Given the description of an element on the screen output the (x, y) to click on. 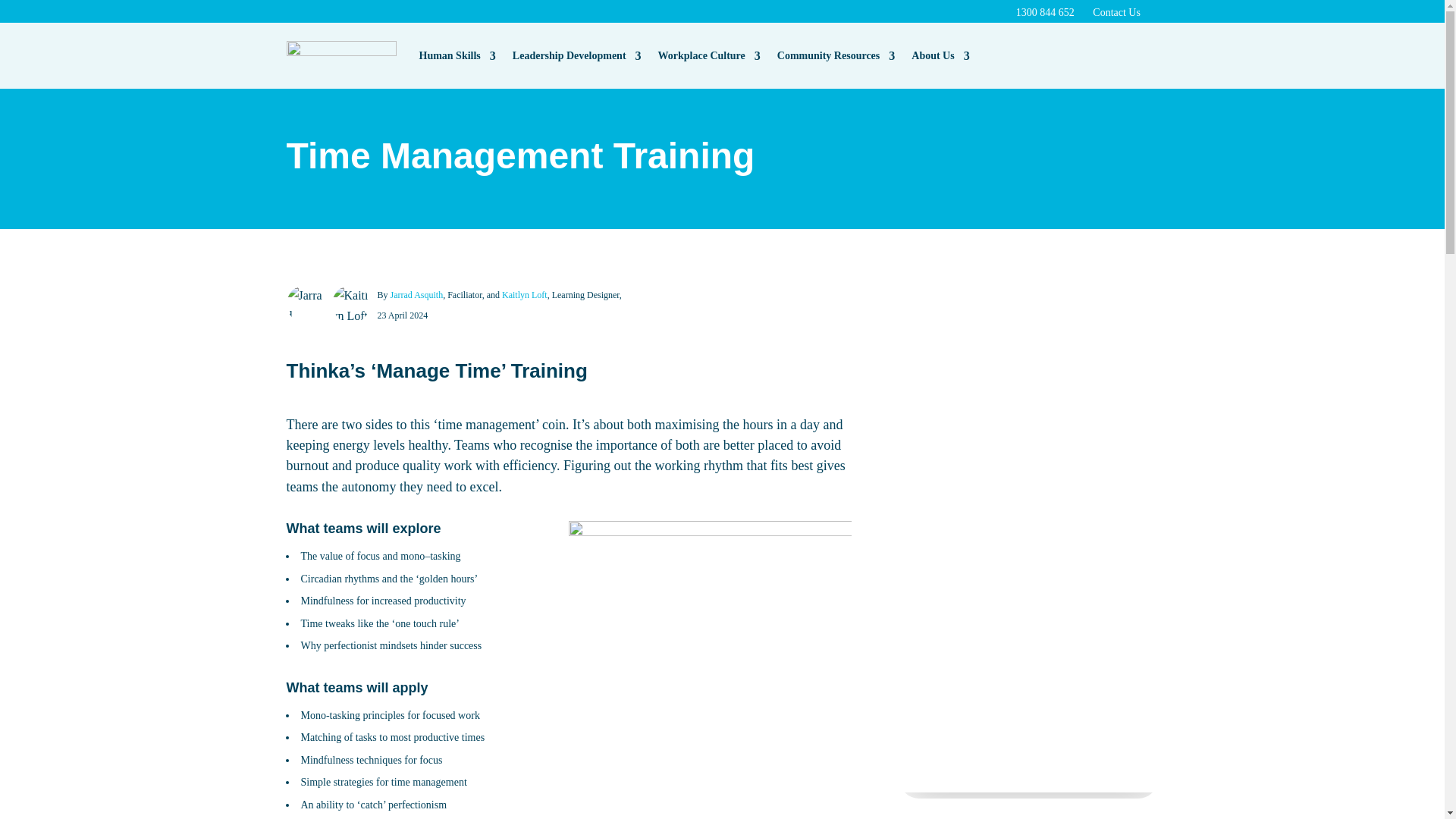
1300 844 652  (1046, 12)
Contact Us (1116, 12)
Human Skills (457, 55)
